Given the description of an element on the screen output the (x, y) to click on. 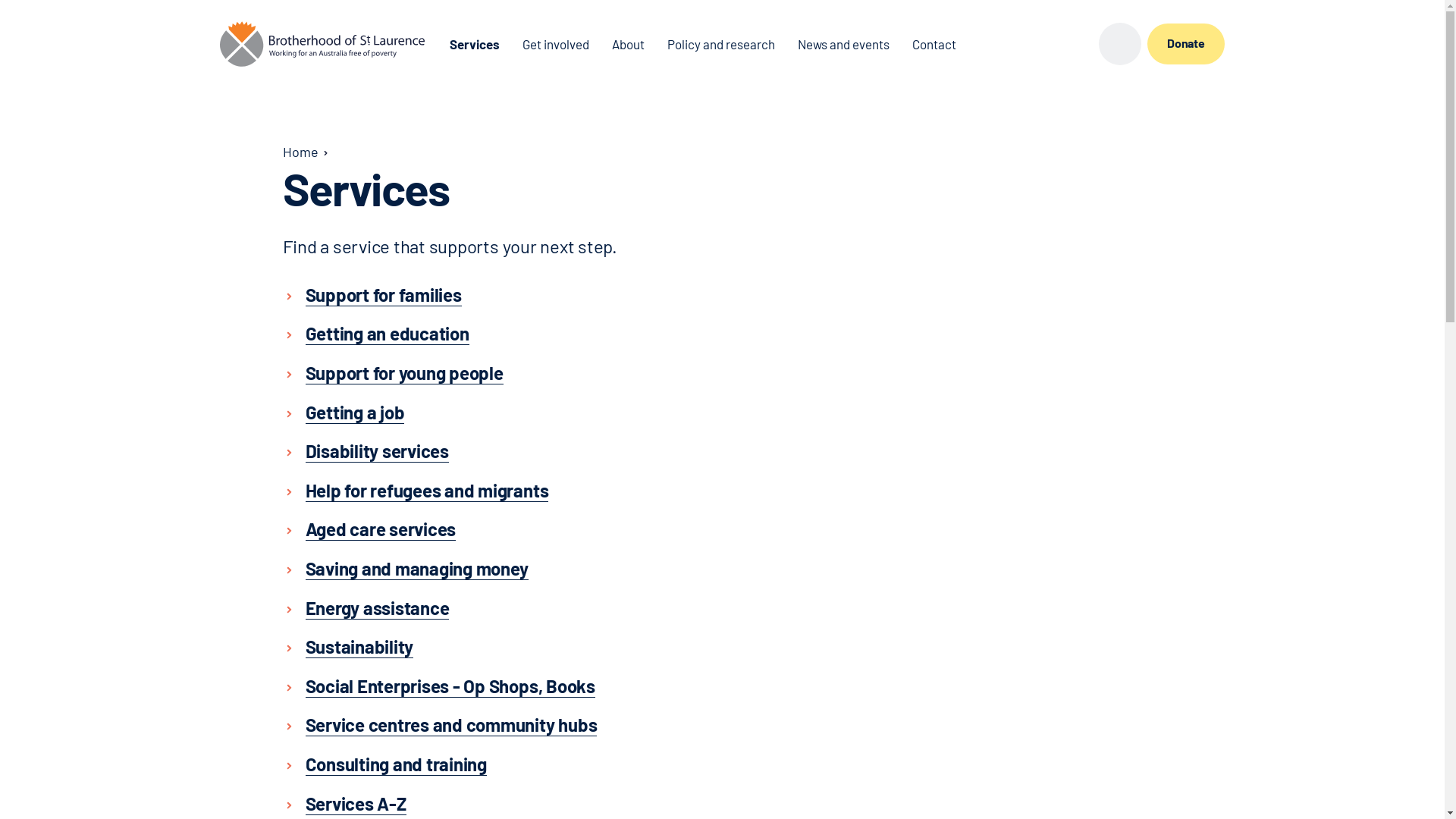
Sustainability Element type: text (358, 646)
Help for refugees and migrants Element type: text (426, 490)
Saving and managing money Element type: text (415, 568)
Get involved Element type: text (555, 43)
Brotherhood of St. Laurence Twitter Element type: hover (1077, 43)
Social Enterprises - Op Shops, Books Element type: text (449, 685)
Brotherhood of St. Laurence Linkedin Element type: hover (1049, 43)
Disability services Element type: text (376, 450)
Aged care services Element type: text (379, 528)
Support for families Element type: text (382, 294)
Brotherhood of St. Laurence Instagram Element type: hover (1022, 43)
Home Element type: text (299, 151)
Policy and research Element type: text (720, 43)
Brotherhood of St. Laurence Element type: hover (321, 43)
Services A-Z Element type: text (354, 802)
Service centres and community hubs Element type: text (450, 724)
Support for young people Element type: text (403, 372)
Services Element type: text (474, 43)
Donate Element type: text (1185, 43)
Consulting and training Element type: text (395, 764)
About Element type: text (627, 43)
News and events Element type: text (843, 43)
Energy assistance Element type: text (376, 607)
Getting an education Element type: text (386, 333)
Getting a job Element type: text (354, 412)
Contact Element type: text (933, 43)
Brotherhood of St. Laurence Facebook Element type: hover (995, 43)
